Given the description of an element on the screen output the (x, y) to click on. 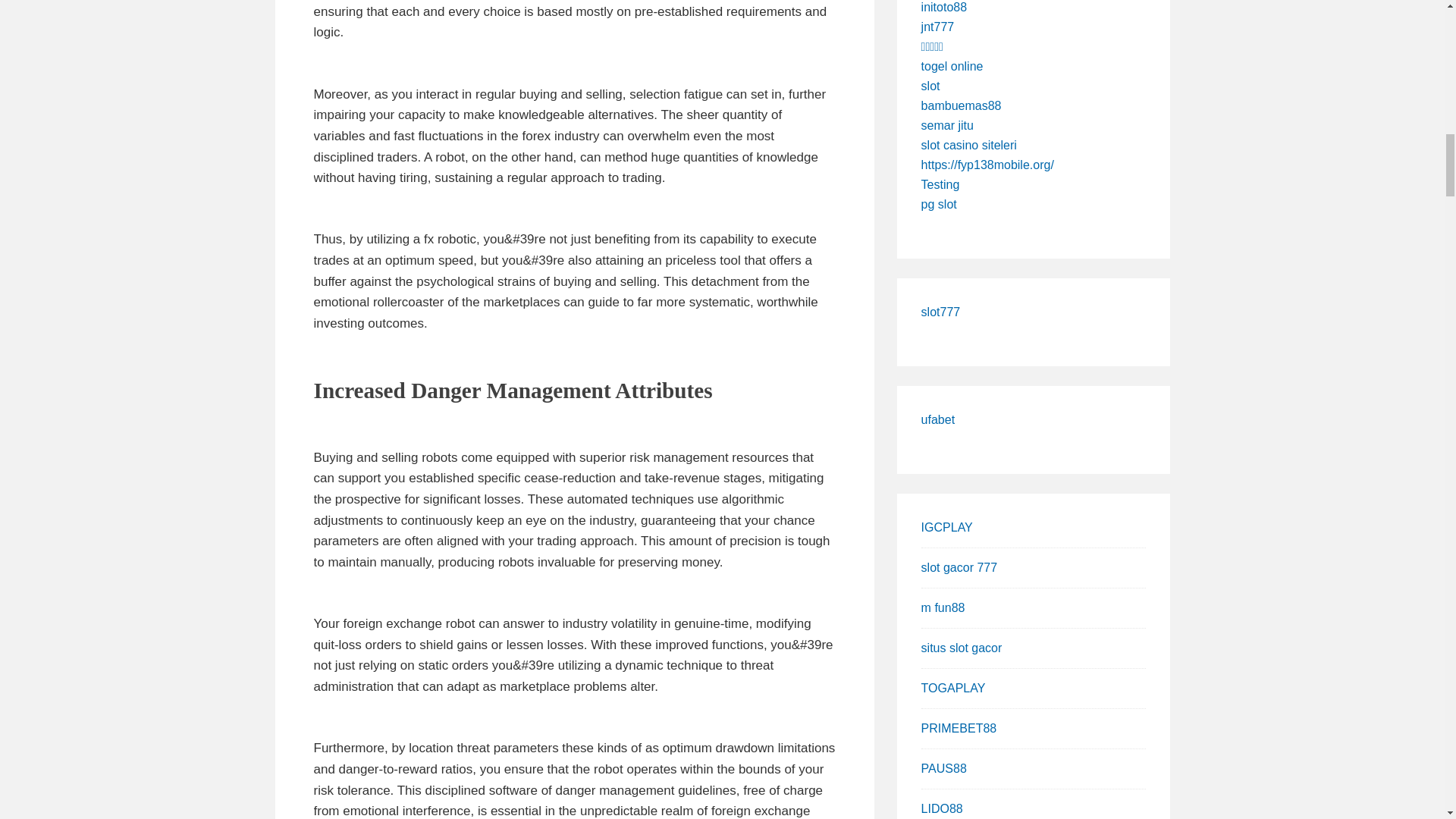
slot (930, 85)
togel online (952, 65)
jnt777 (938, 26)
initoto88 (944, 6)
semar jitu (947, 124)
slot casino siteleri (968, 144)
bambuemas88 (961, 105)
